Given the description of an element on the screen output the (x, y) to click on. 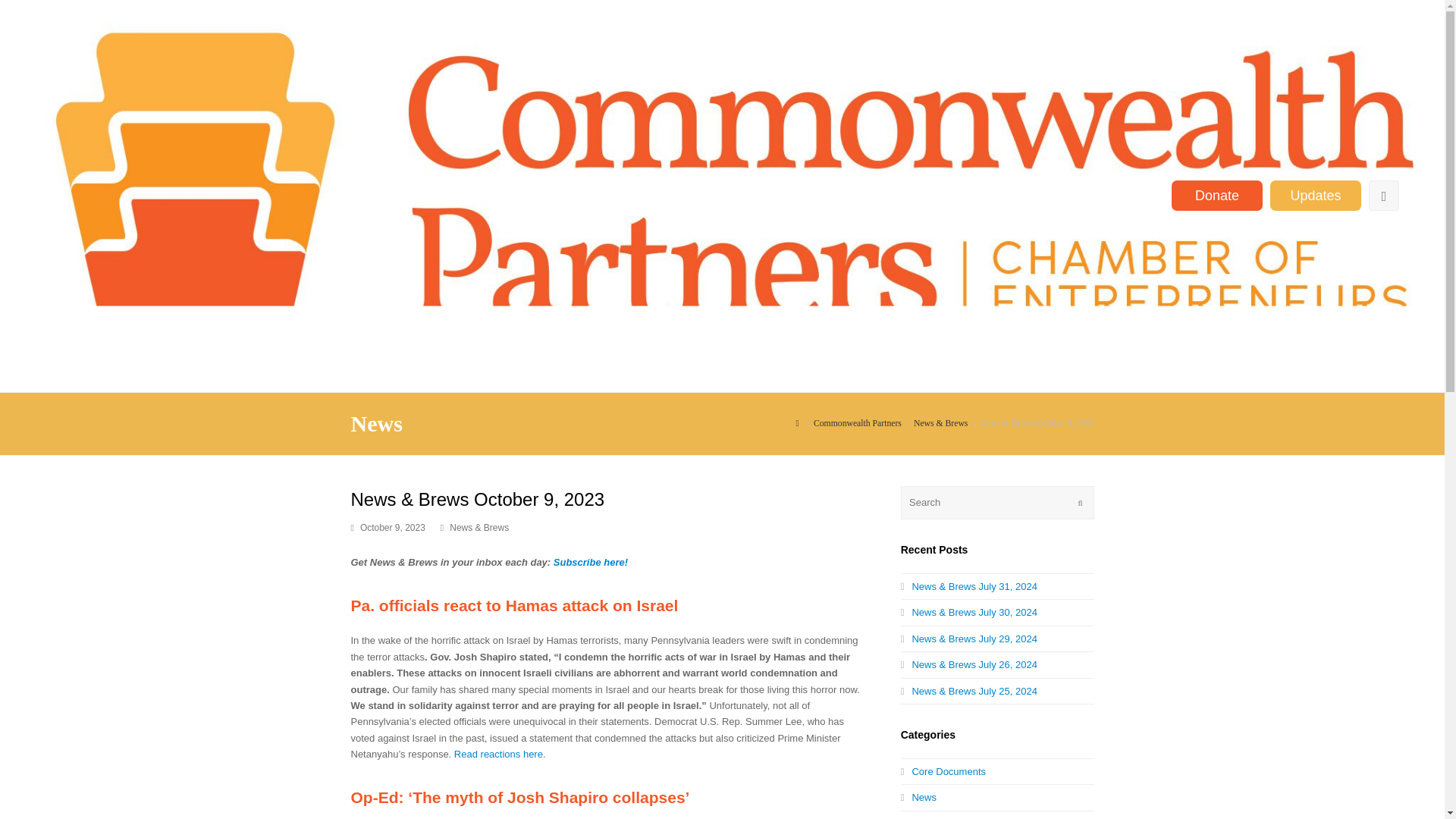
News (918, 797)
Donate (1217, 195)
Subscribe here! (590, 562)
Core Documents (943, 771)
Updates (1315, 195)
Commonwealth Partners (857, 423)
Read reactions here (498, 754)
Commonwealth Partners (857, 423)
